Given the description of an element on the screen output the (x, y) to click on. 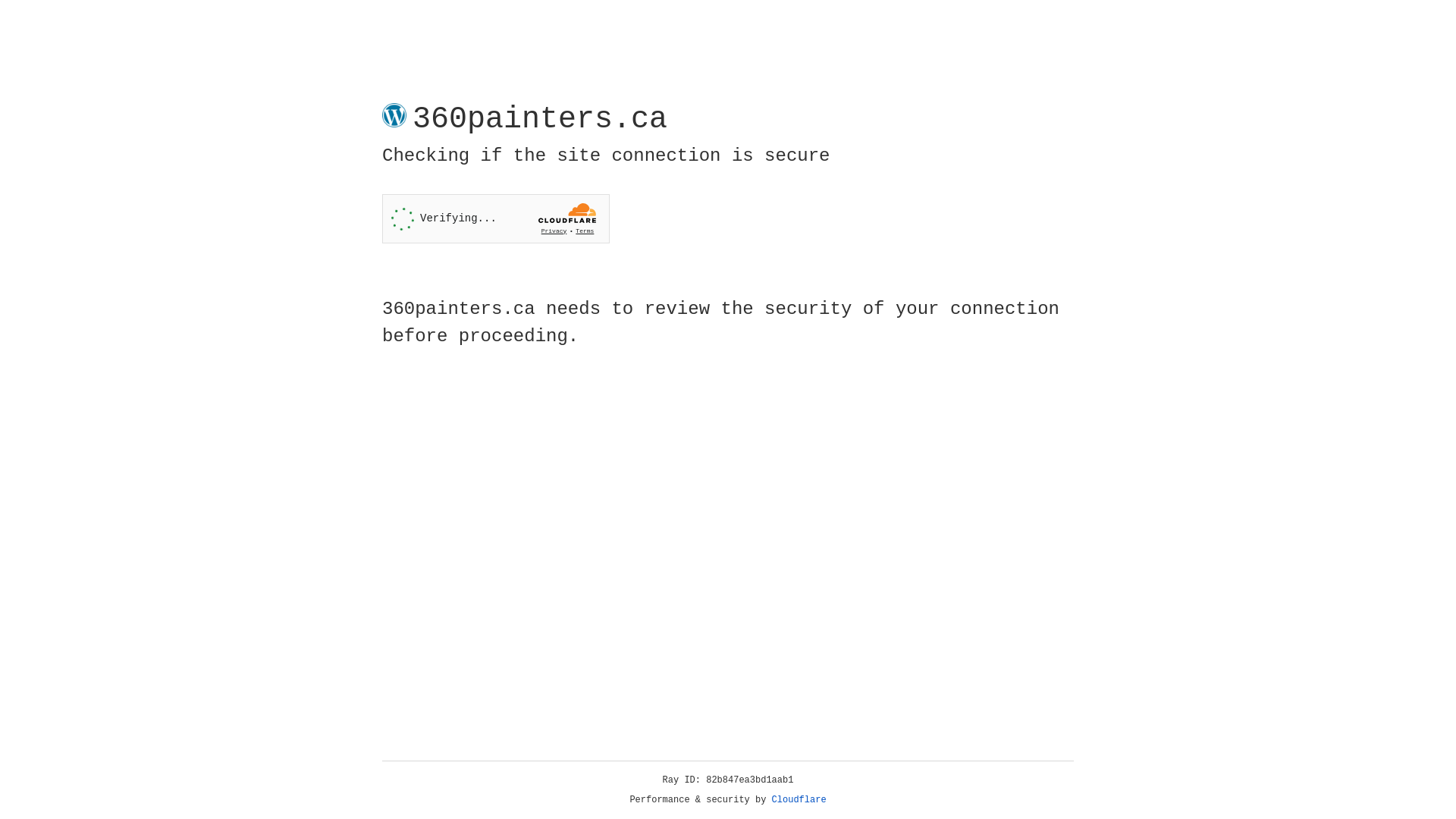
Cloudflare Element type: text (798, 799)
Widget containing a Cloudflare security challenge Element type: hover (495, 218)
